Given the description of an element on the screen output the (x, y) to click on. 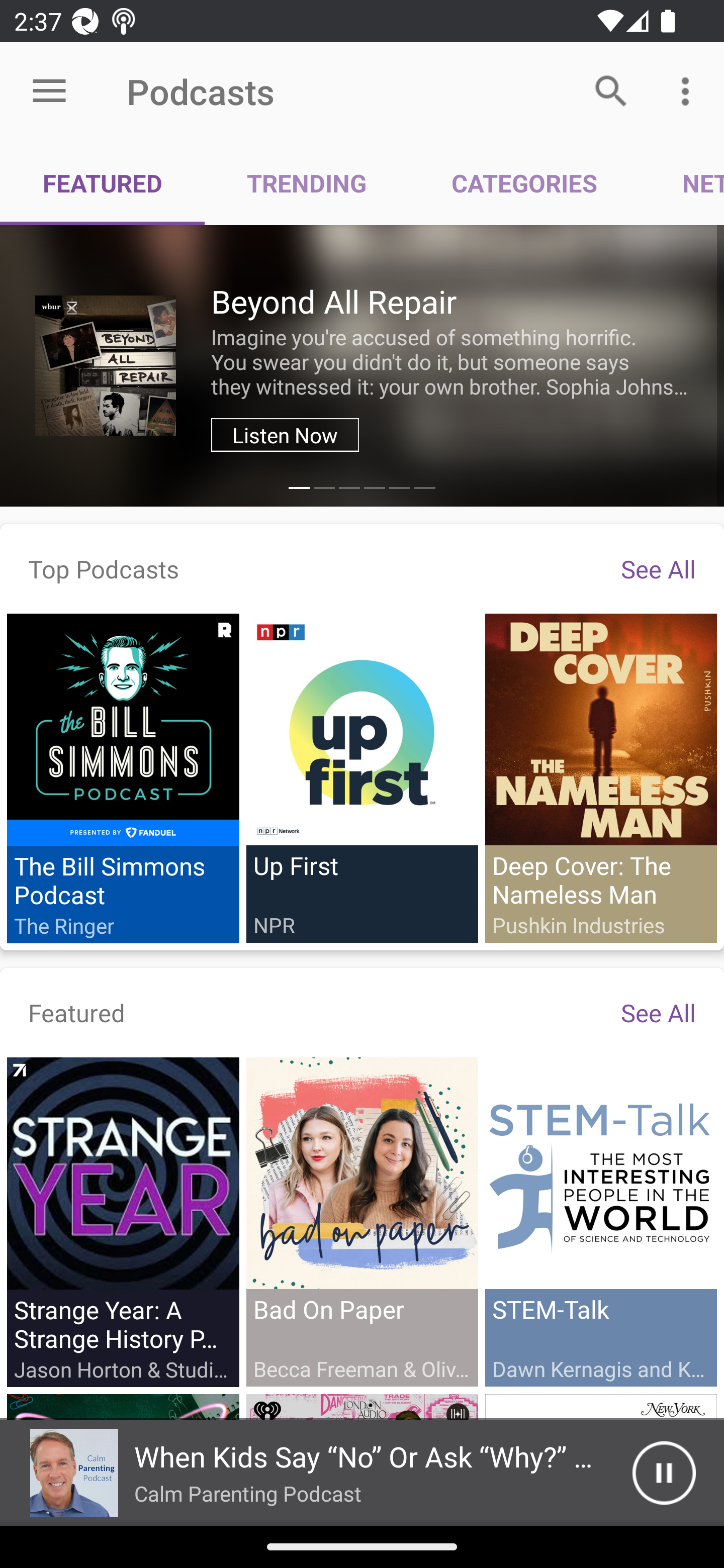
Open menu (49, 91)
Search (611, 90)
More options (688, 90)
FEATURED (102, 183)
TRENDING (306, 183)
CATEGORIES (524, 183)
Top Podcasts (103, 567)
See All (658, 567)
The Bill Simmons Podcast The Ringer (123, 778)
Up First NPR (361, 777)
Deep Cover: The Nameless Man Pushkin Industries (600, 777)
Featured (76, 1011)
See All (658, 1011)
Bad On Paper Becca Freeman & Olivia Muenter (361, 1221)
STEM-Talk Dawn Kernagis and Ken Ford (600, 1221)
Pause (663, 1472)
